Given the description of an element on the screen output the (x, y) to click on. 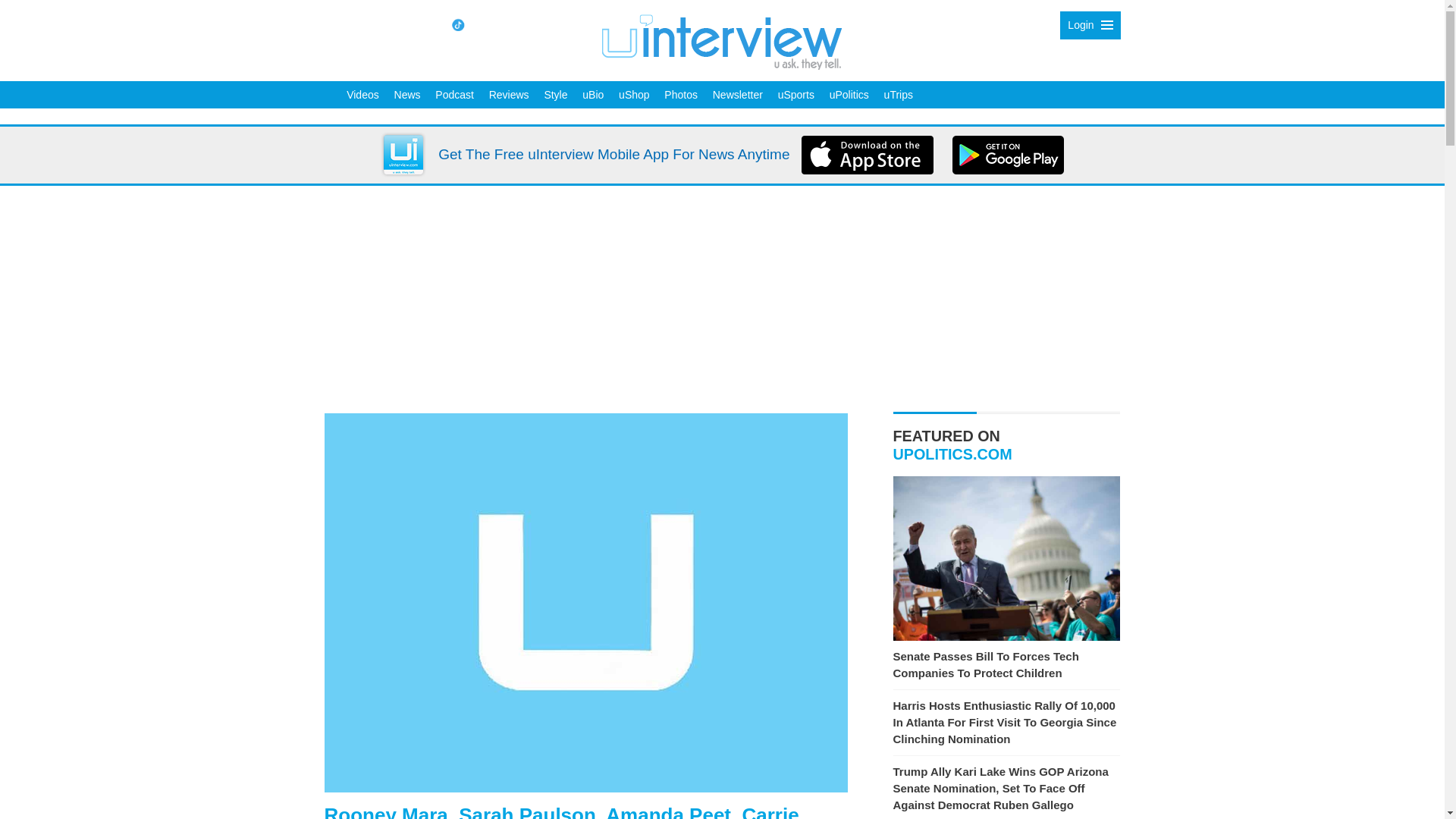
uShop (633, 94)
uBio (593, 94)
Photos (680, 94)
uTrips (898, 94)
Reviews (509, 94)
Videos (362, 94)
uPolitics (849, 94)
News (407, 94)
uSports (796, 94)
Newsletter (737, 94)
Login (1089, 25)
Style (555, 94)
